Given the description of an element on the screen output the (x, y) to click on. 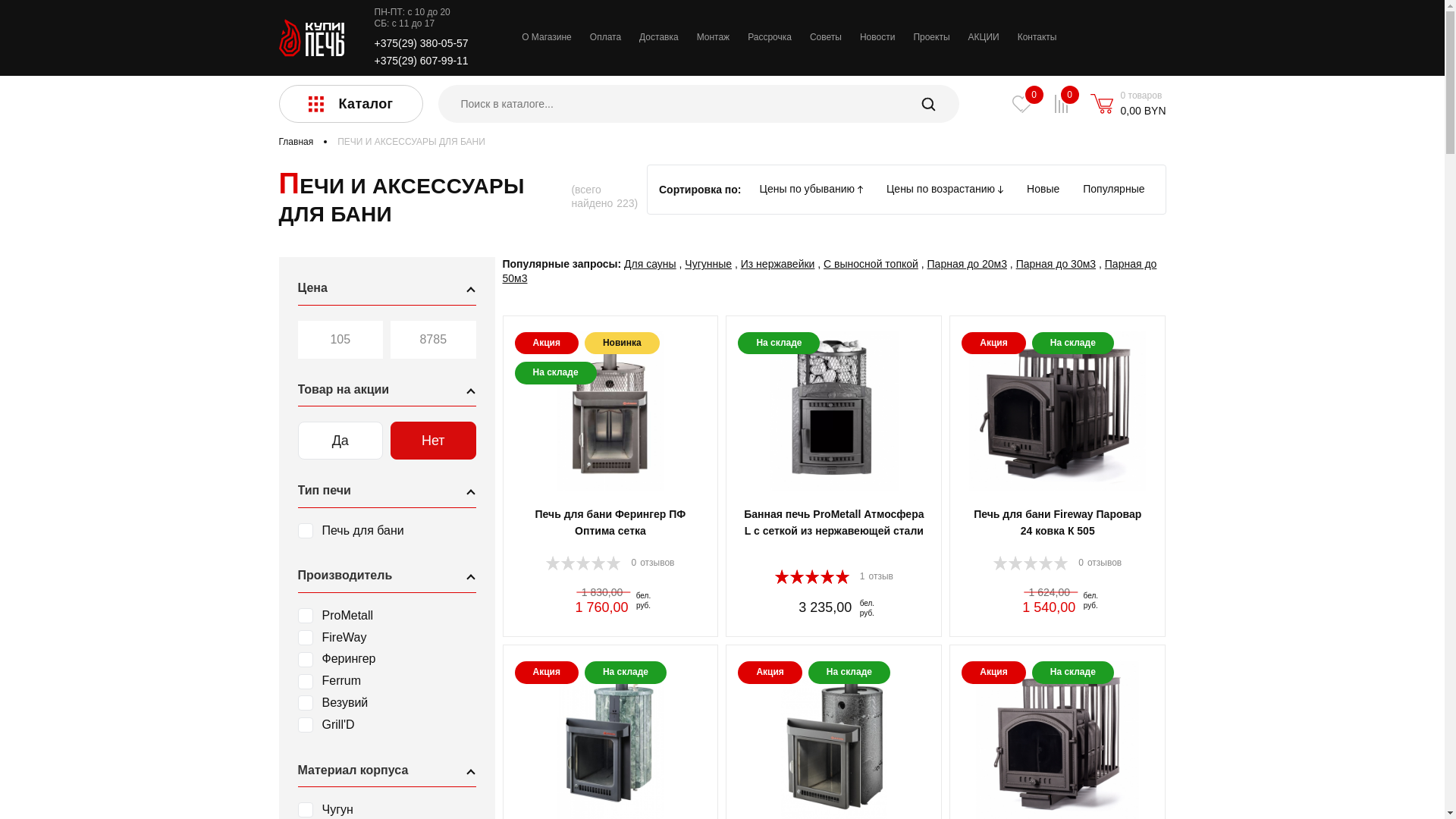
+375(29) 607-99-11 Element type: text (421, 60)
+375(29) 380-05-57 Element type: text (421, 43)
